Given the description of an element on the screen output the (x, y) to click on. 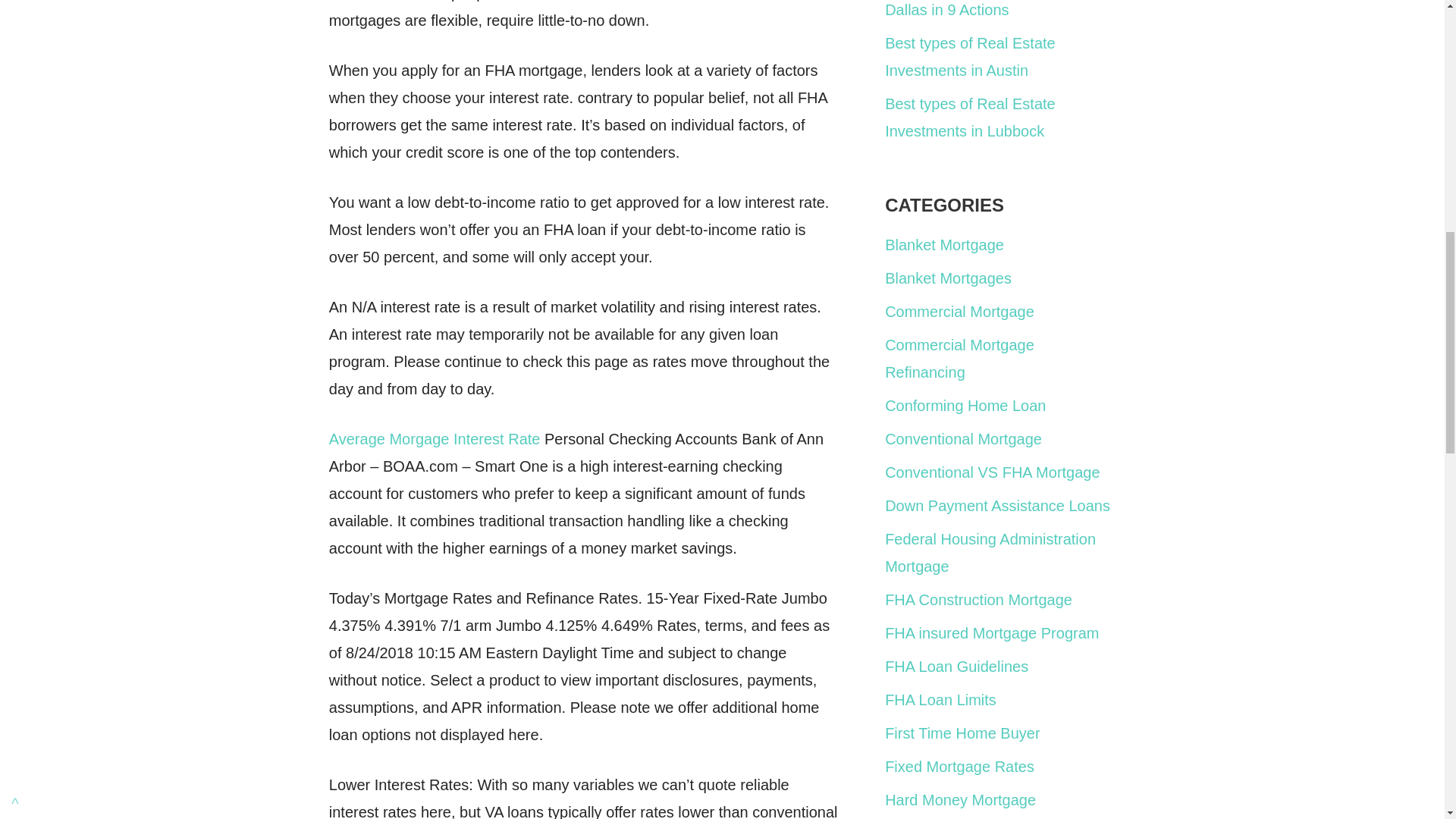
FHA Construction Mortgage (978, 599)
Hard Money Mortgage (960, 799)
Blanket Mortgages (948, 278)
Commercial Mortgage Refinancing (959, 358)
Commercial Mortgage (959, 311)
Best types of Real Estate Investments in Austin (970, 56)
Down Payment Assistance Loans (997, 505)
Average Morgage Interest Rate (434, 438)
Federal Housing Administration Mortgage (990, 552)
Best types of Real Estate Investments in Lubbock (970, 117)
Conforming Home Loan (965, 405)
Blanket Mortgage (944, 244)
Fixed Mortgage Rates (959, 766)
First Time Home Buyer (962, 733)
